Given the description of an element on the screen output the (x, y) to click on. 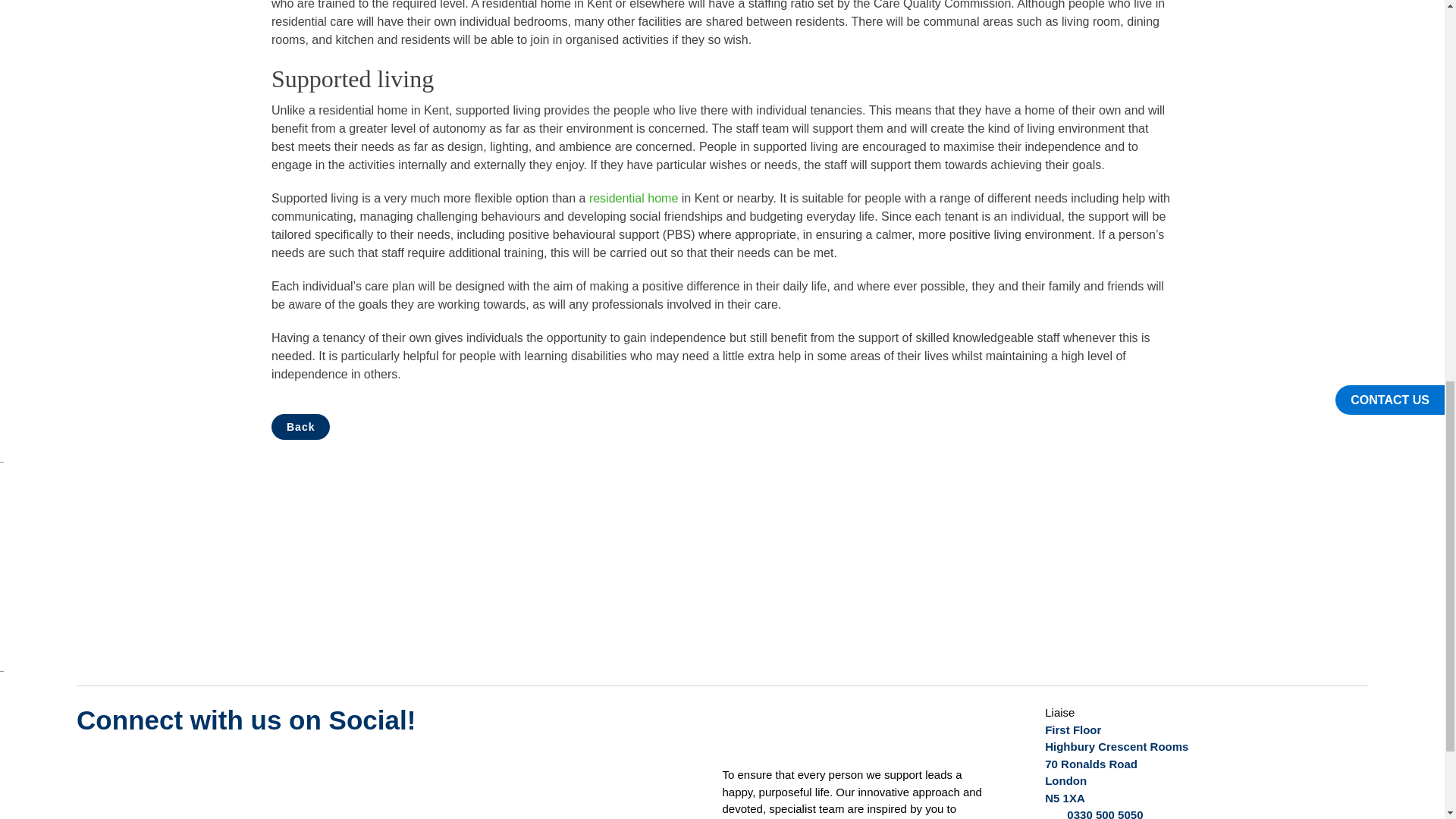
liaise-logo-v2 (769, 731)
linkedin-icon (269, 766)
youtube-icon (156, 766)
twitter-icon (99, 766)
Back (300, 426)
fb-icon (212, 766)
